Given the description of an element on the screen output the (x, y) to click on. 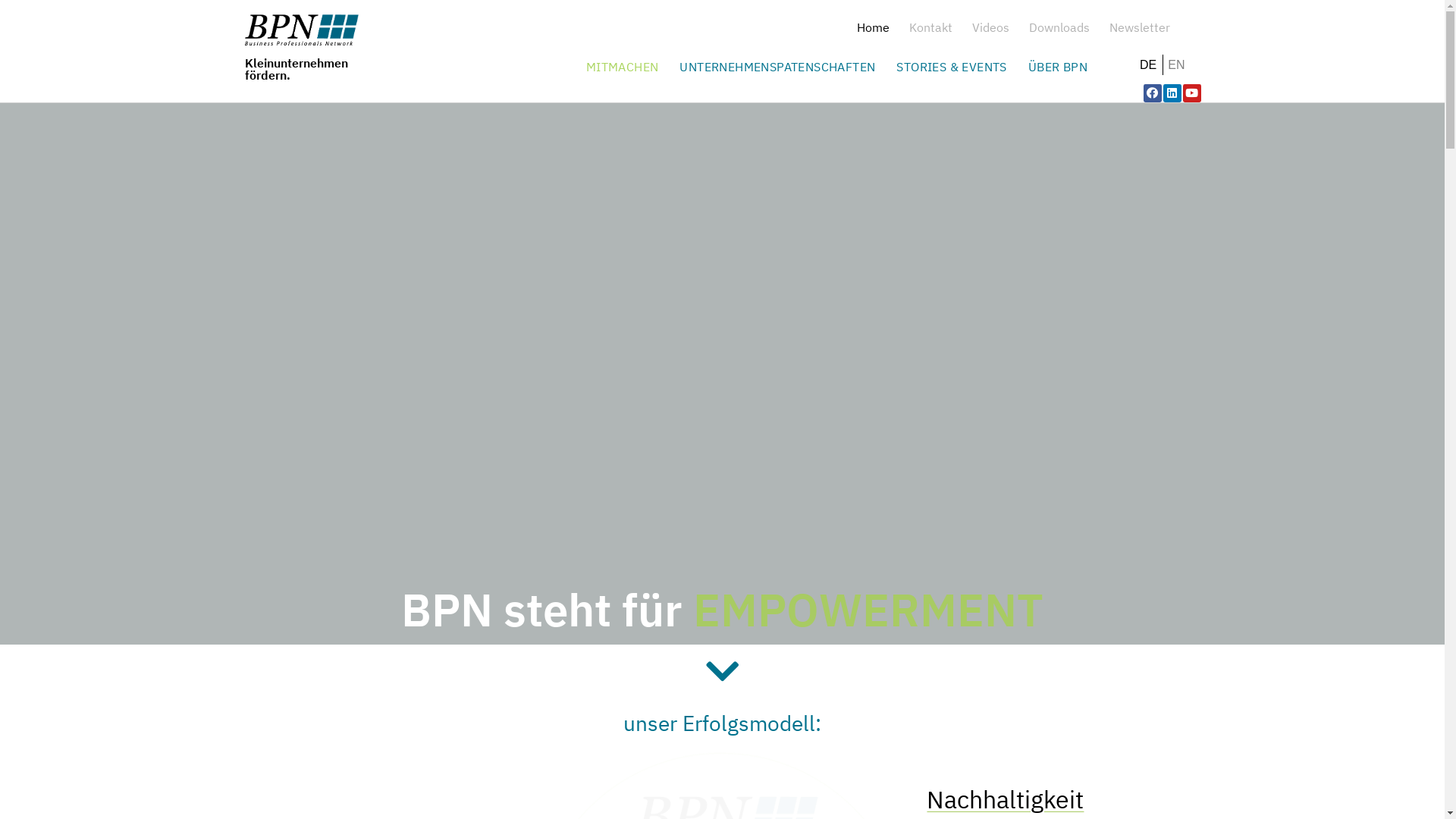
UNTERNEHMENSPATENSCHAFTEN Element type: text (780, 66)
Kontakt Element type: text (930, 27)
STORIES & EVENTS Element type: text (954, 66)
Newsletter Element type: text (1139, 27)
EN Element type: text (1177, 64)
BPN Element type: hover (300, 29)
Videos Element type: text (990, 27)
MITMACHEN Element type: text (626, 66)
Home Element type: text (873, 27)
Downloads Element type: text (1059, 27)
